Given the description of an element on the screen output the (x, y) to click on. 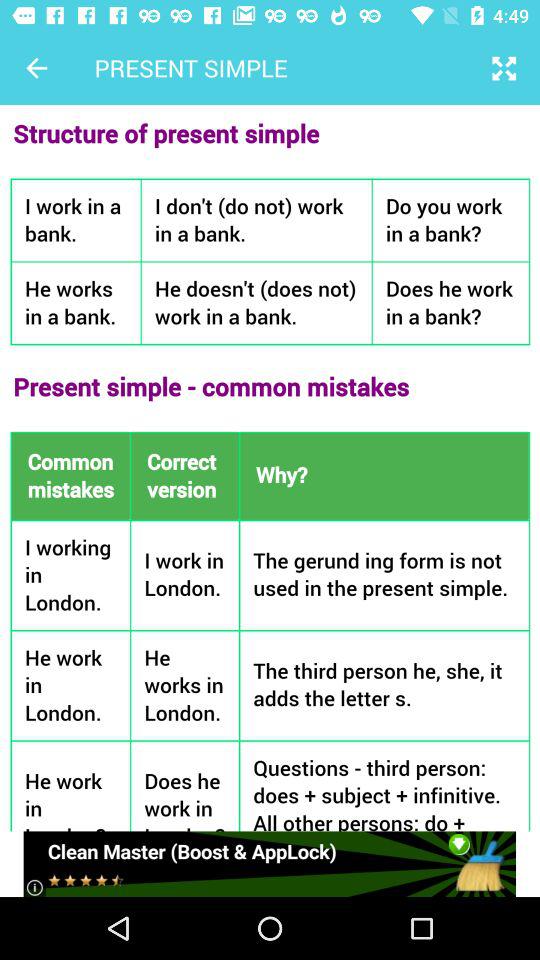
previews button (36, 68)
